Given the description of an element on the screen output the (x, y) to click on. 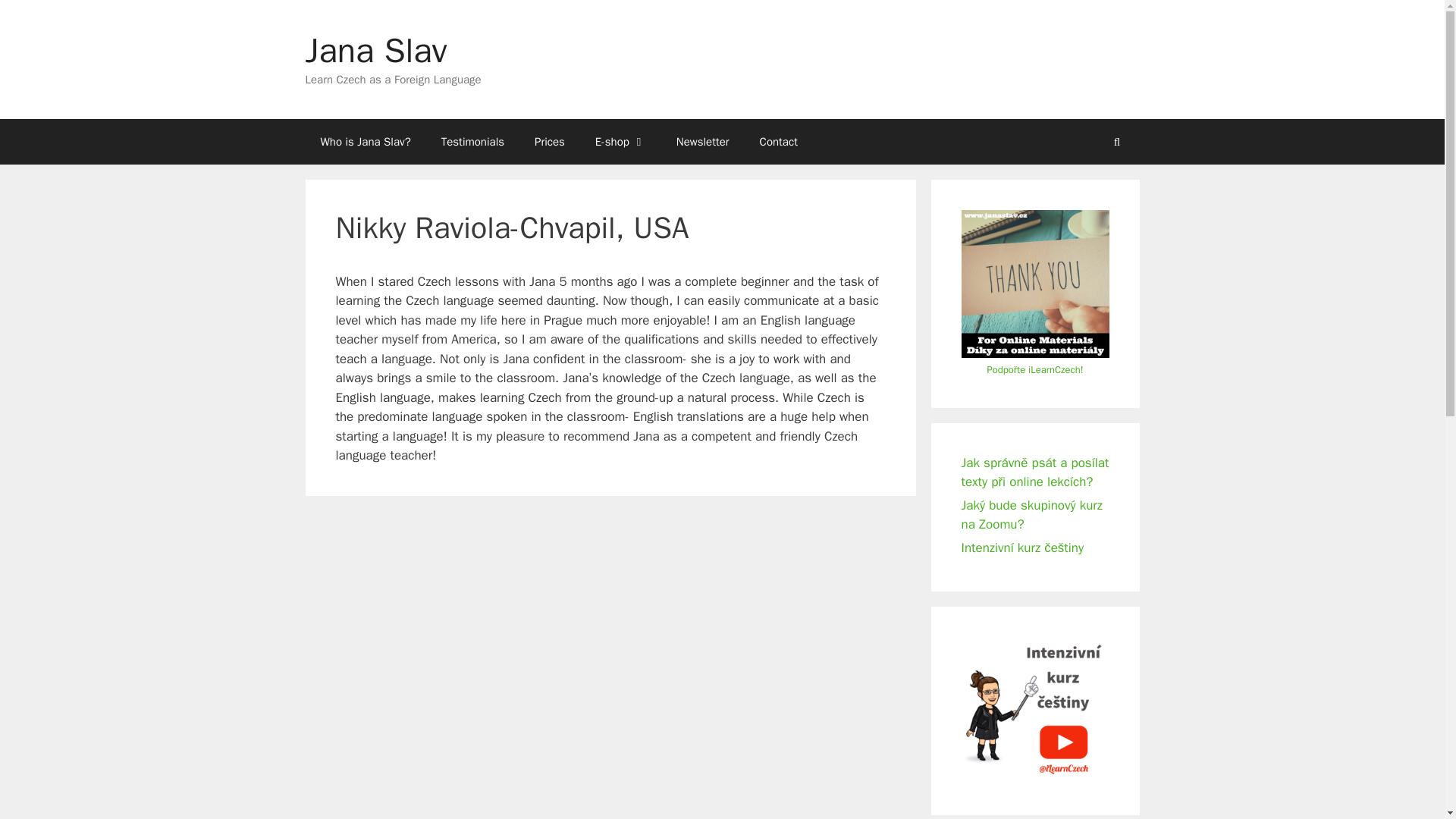
E-shop (620, 140)
Email (1126, 42)
YouTube (986, 42)
Testimonials (472, 140)
Prices (549, 140)
Jana Slav (375, 50)
Who is Jana Slav? (364, 140)
Newsletter (702, 140)
LinkedIn (1098, 42)
Contact (778, 140)
